Given the description of an element on the screen output the (x, y) to click on. 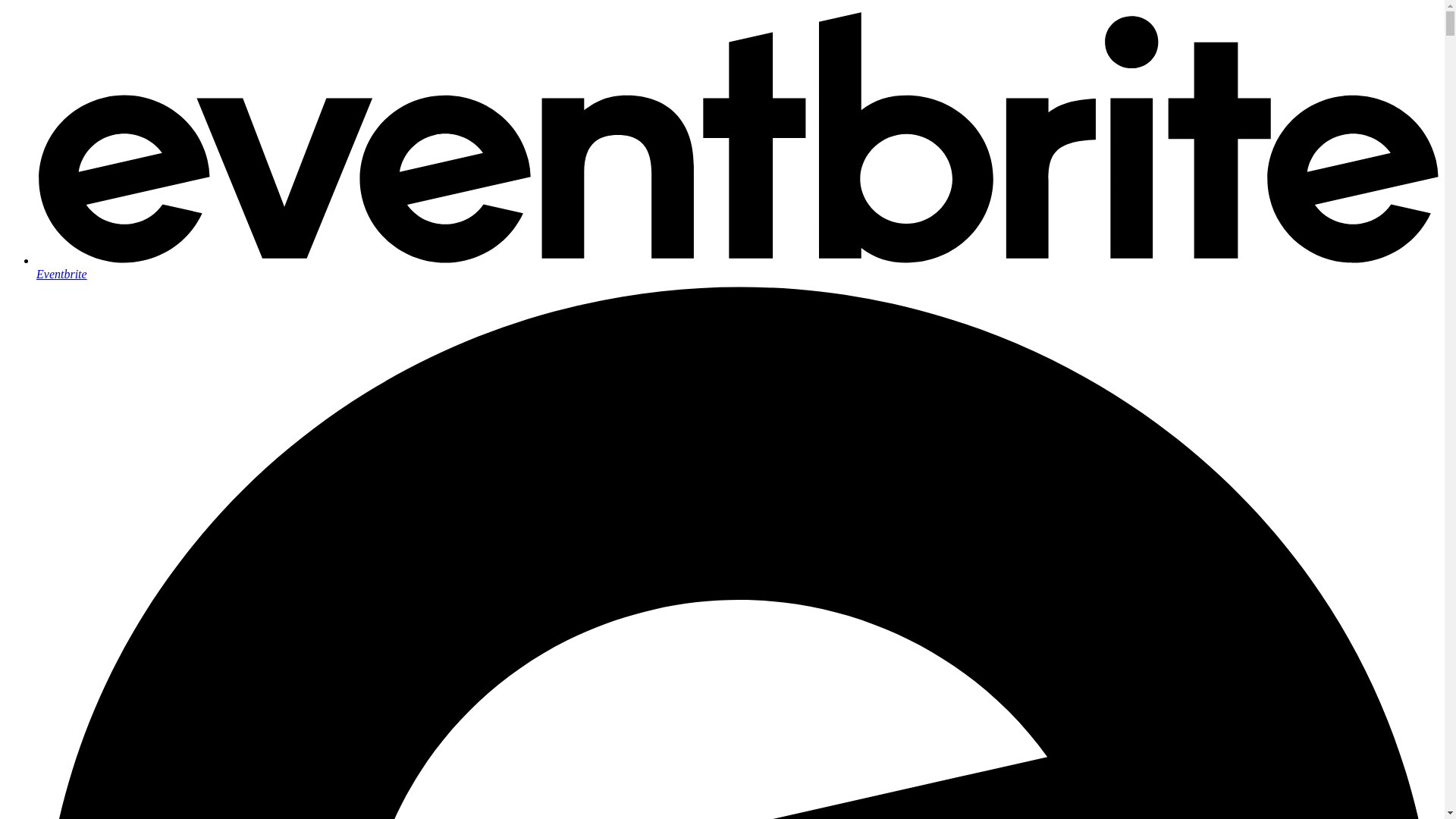
Eventbrite Element type: text (737, 267)
